Given the description of an element on the screen output the (x, y) to click on. 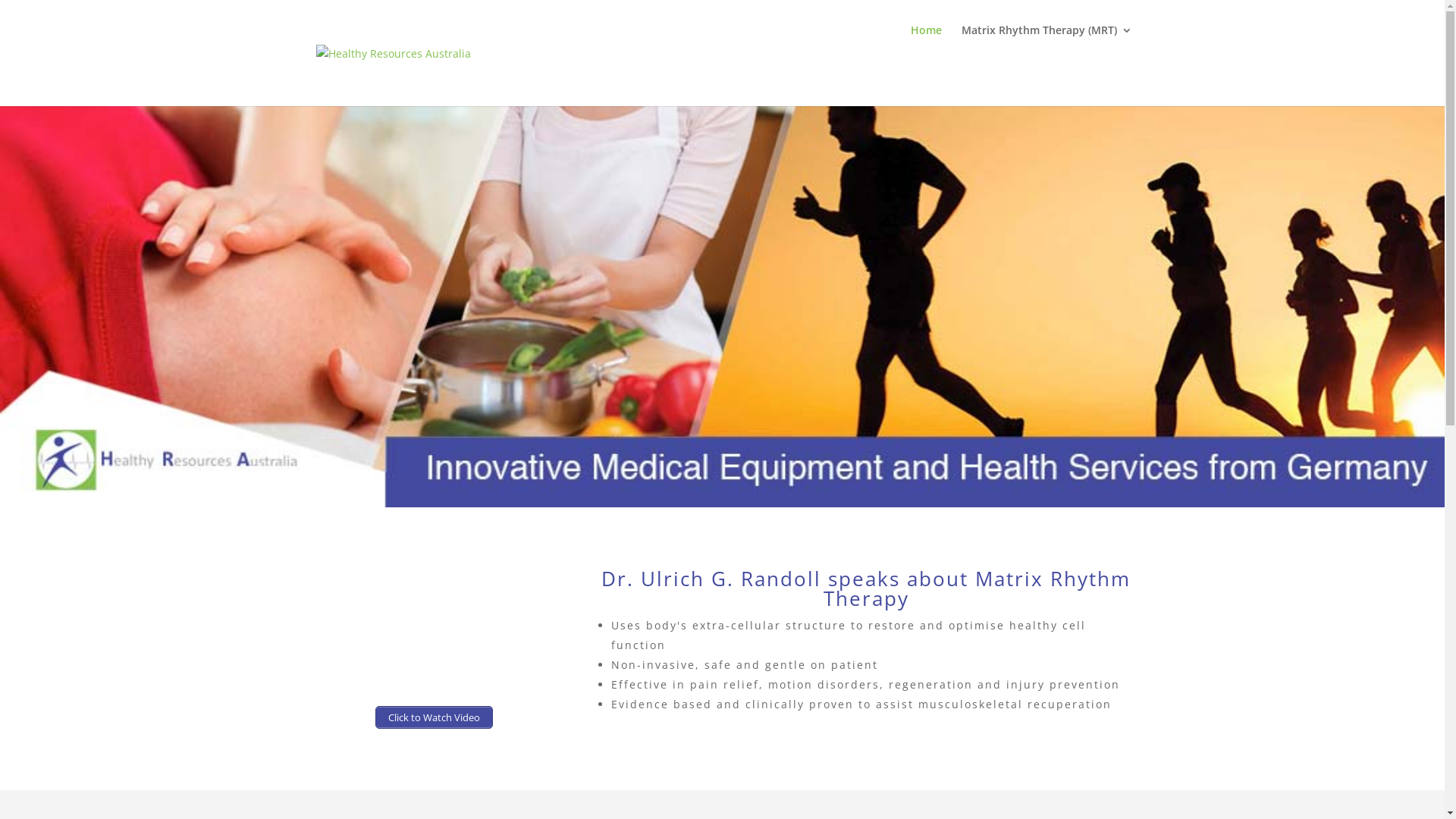
Matrix Rhythm Therapy (MRT) Element type: text (1046, 42)
Click to Watch Video Element type: text (433, 717)
Home Element type: text (925, 42)
